Given the description of an element on the screen output the (x, y) to click on. 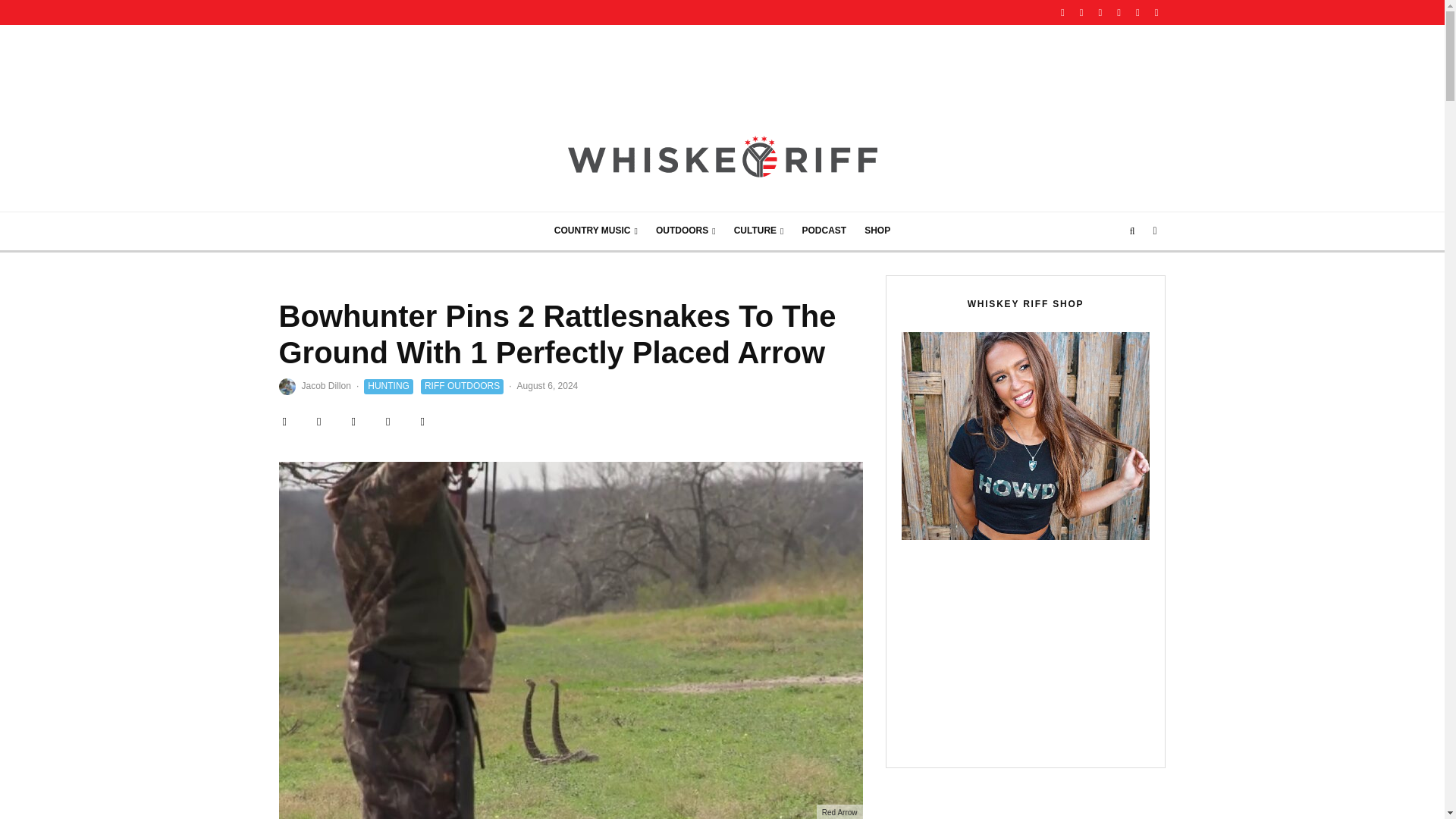
OUTDOORS (685, 231)
CULTURE (759, 231)
COUNTRY MUSIC (595, 231)
